Given the description of an element on the screen output the (x, y) to click on. 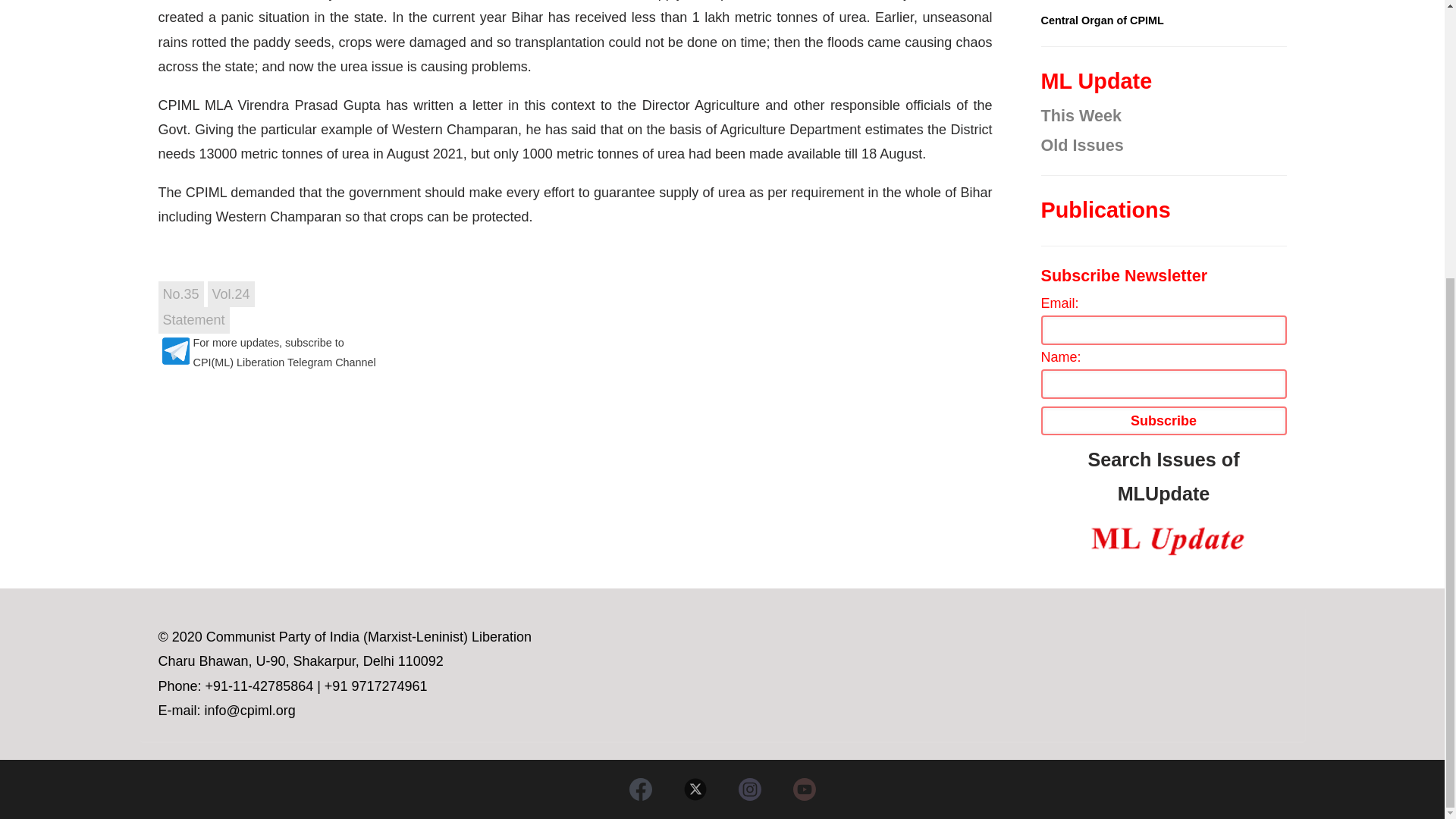
Subscribe (1163, 420)
Central Organ of CPIML (1102, 20)
Publications (1163, 210)
Statement (192, 319)
Old Issues (1163, 145)
Vol.24 (231, 294)
No.35 (180, 294)
Subscribe (1163, 420)
This Week (1163, 116)
Statement (192, 319)
